Given the description of an element on the screen output the (x, y) to click on. 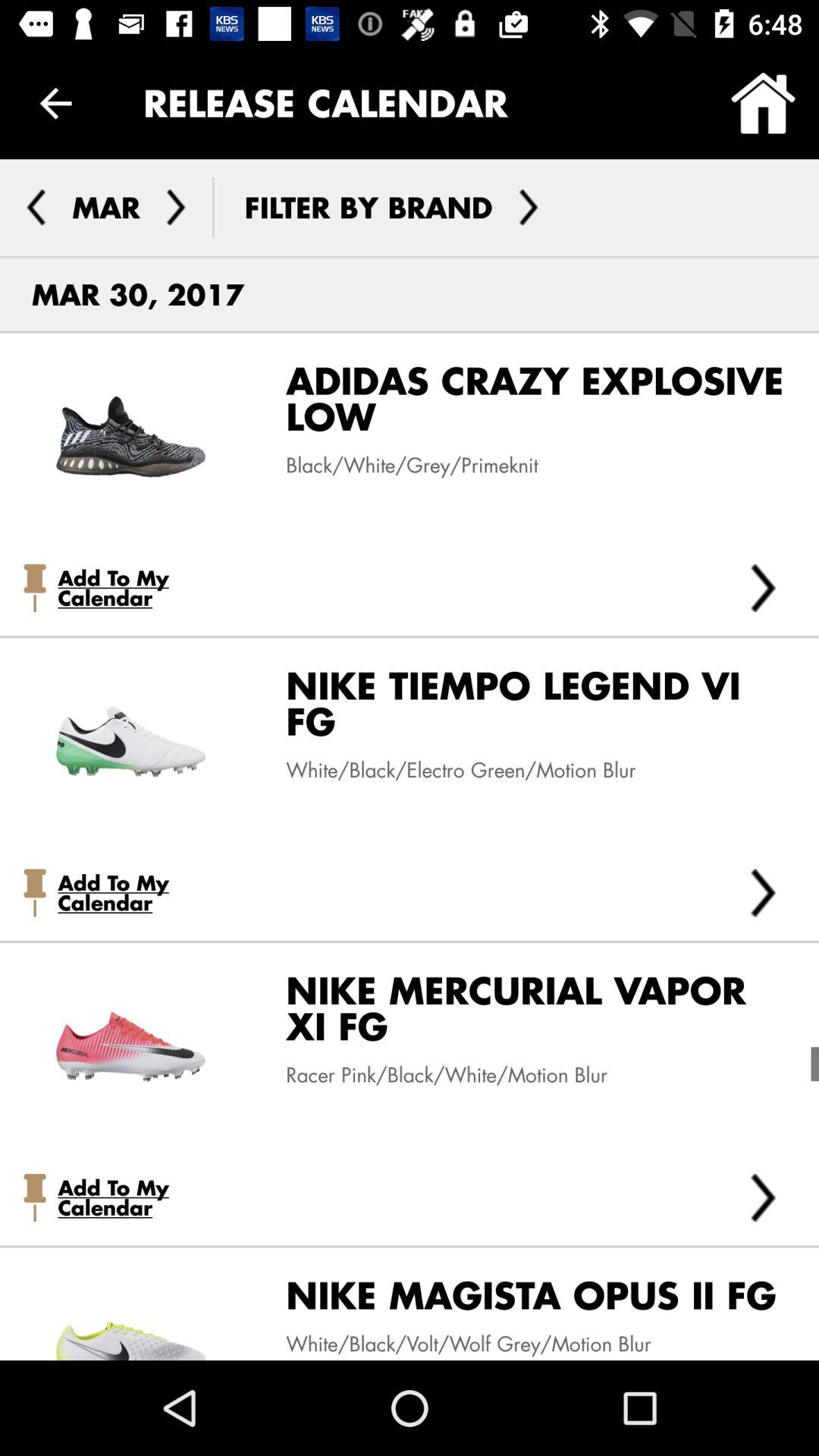
go to previous (36, 207)
